Given the description of an element on the screen output the (x, y) to click on. 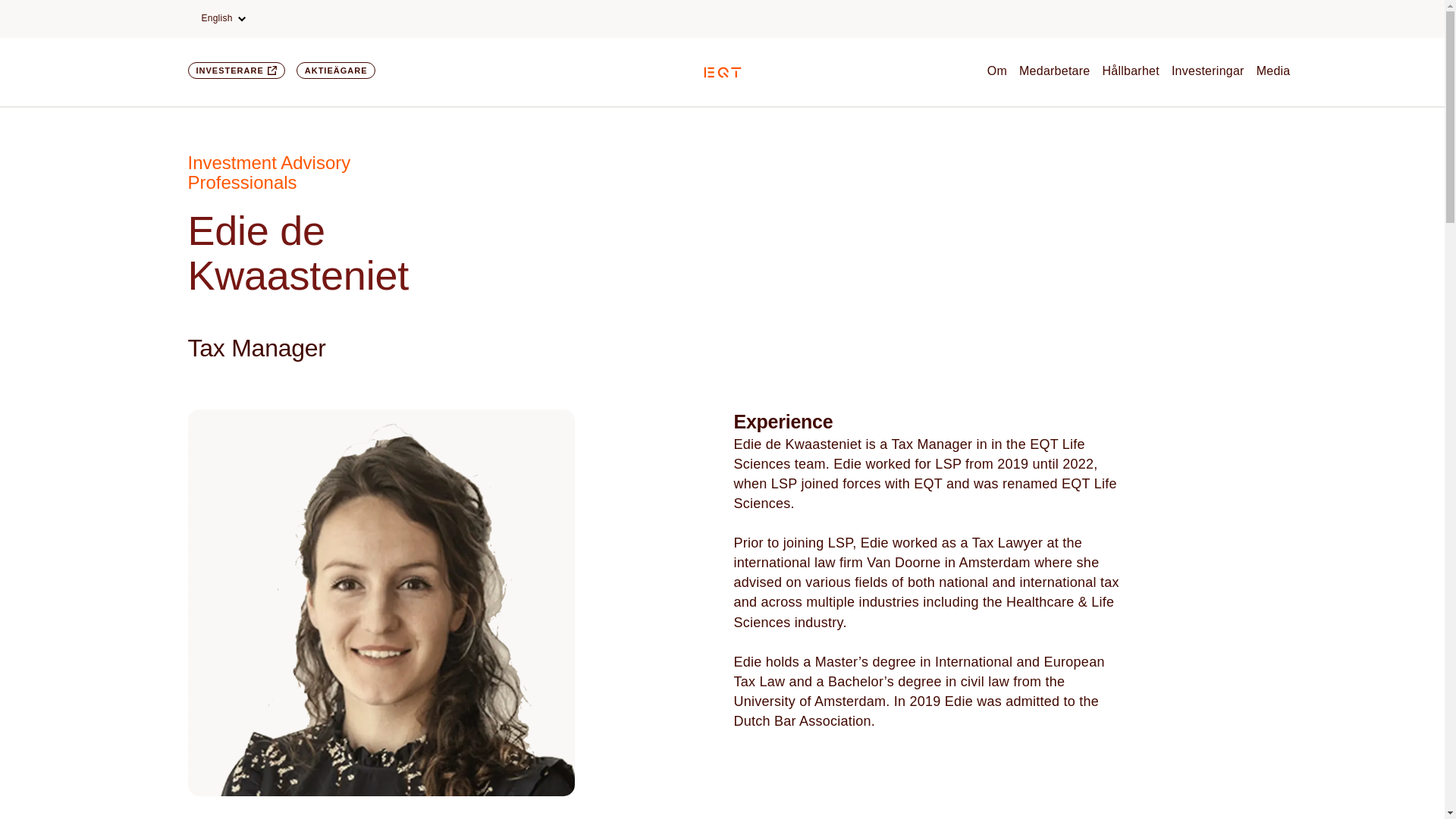
Investeringar (1208, 71)
Om (997, 71)
English (223, 18)
Om (997, 71)
Medarbetare (1054, 71)
Media (1273, 71)
Investeringar (1208, 71)
Media (1273, 71)
Medarbetare (1054, 71)
INVESTERARE (236, 70)
